Given the description of an element on the screen output the (x, y) to click on. 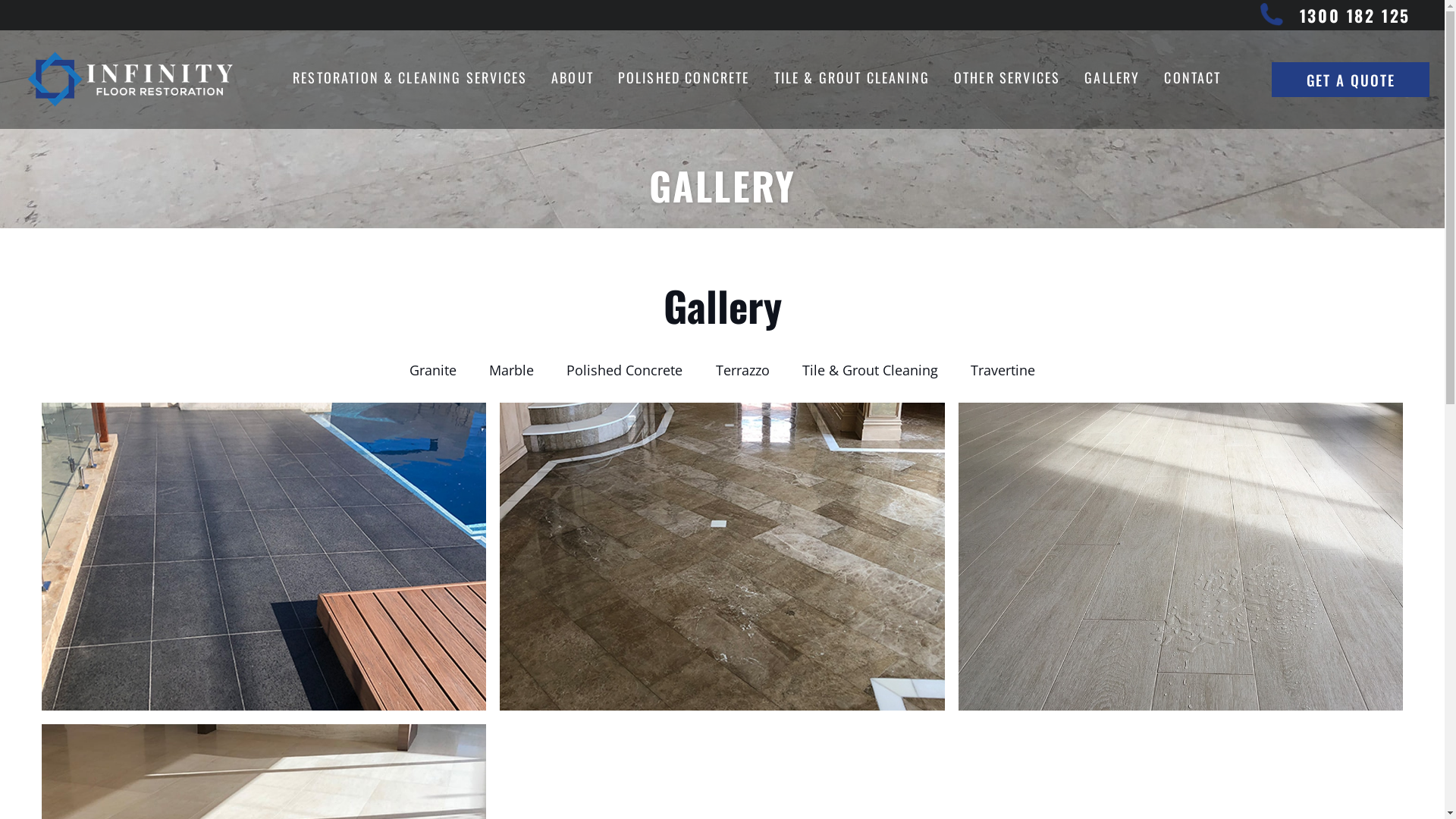
Tile & Grout Cleaning Element type: text (869, 370)
Travertine Element type: text (1002, 370)
ABOUT Element type: text (572, 79)
gallery03 Element type: hover (1180, 556)
gallery06 Element type: hover (263, 556)
Polished Concrete Element type: text (624, 370)
RESTORATION & CLEANING SERVICES Element type: text (409, 79)
gallery04 Element type: hover (721, 556)
POLISHED CONCRETE Element type: text (683, 79)
CONTACT Element type: text (1192, 79)
GALLERY Element type: text (1111, 79)
OTHER SERVICES Element type: text (1006, 79)
TILE & GROUT CLEANING Element type: text (851, 79)
Terrazzo Element type: text (742, 370)
Marble Element type: text (511, 370)
GET A QUOTE Element type: text (1350, 79)
Granite Element type: text (432, 370)
1300 182 125 Element type: text (1354, 15)
